Given the description of an element on the screen output the (x, y) to click on. 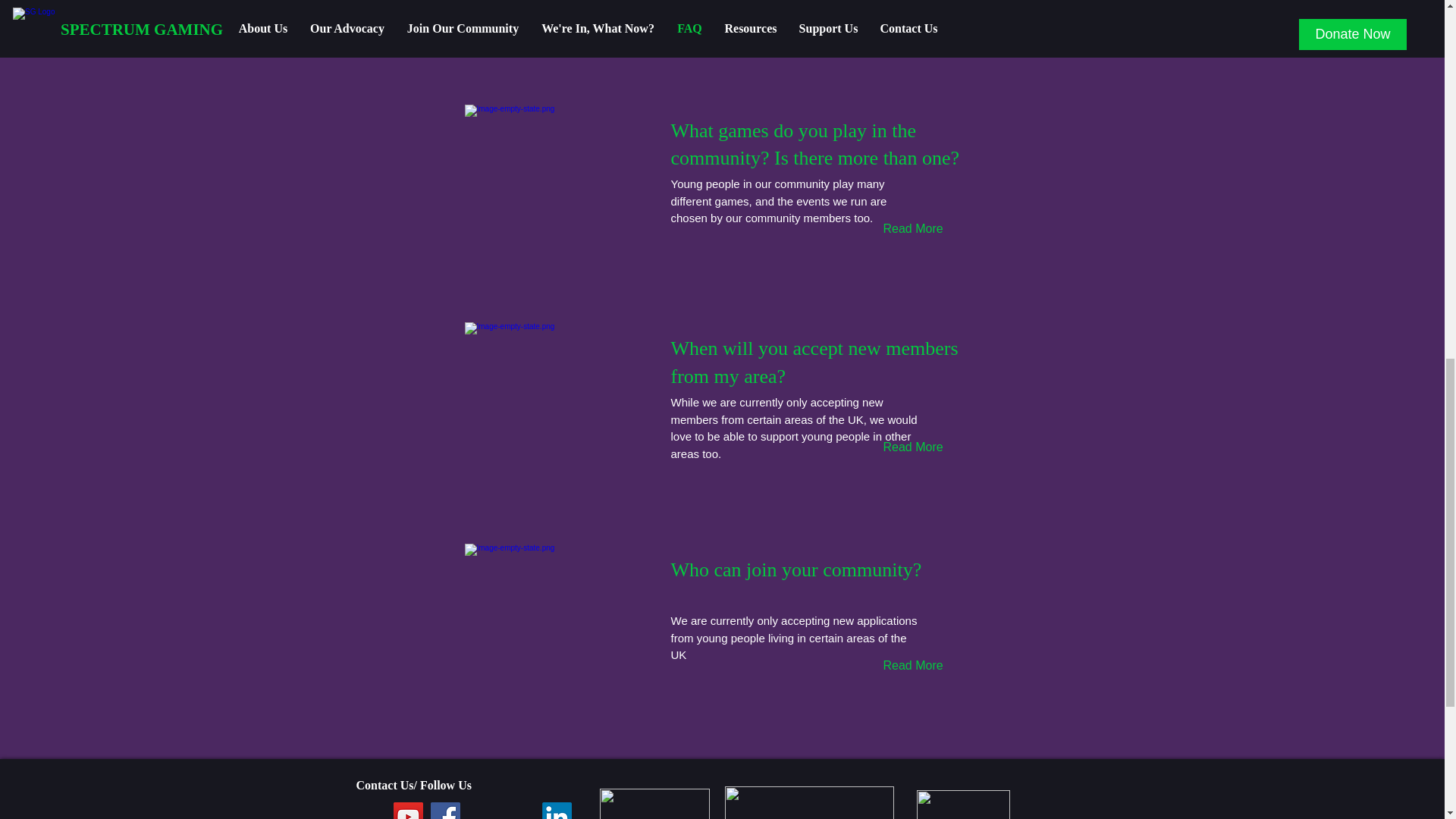
Playing Video Games.jpeg (561, 6)
Game Online.jpg (561, 181)
gmicp-logo-303x270.png (653, 803)
8.png (561, 399)
digital-black-backgroundnobg.png (809, 802)
Video Game Console Blue .jpg (561, 620)
Read More (914, 446)
Read More (914, 11)
Read More (914, 665)
Read More (914, 228)
